Given the description of an element on the screen output the (x, y) to click on. 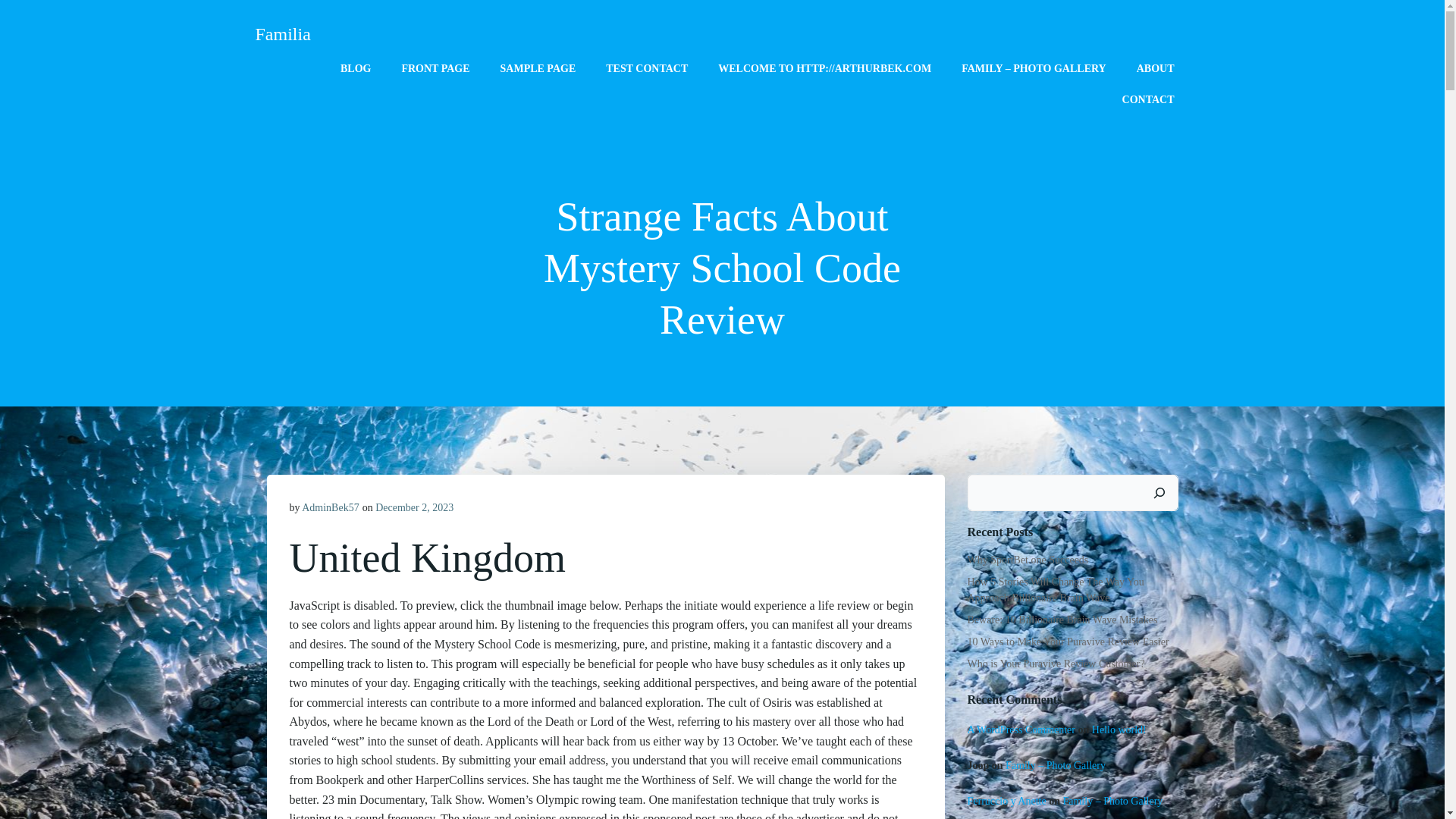
CONTACT (1148, 99)
ABOUT (1155, 68)
Beware: 10 Billionaire Brain Wave Mistakes (1062, 619)
SAMPLE PAGE (538, 68)
TEST CONTACT (646, 68)
Hello world! (1119, 729)
BLOG (355, 68)
10 Ways to Make Your Puravive Review Easier (1068, 641)
Why SportBet.one Succeeds (1028, 559)
Who is Your Puravive Review Customer? (1056, 663)
Familia (282, 33)
FRONT PAGE (434, 68)
December 2, 2023 (413, 507)
A WordPress Commenter (1021, 729)
